Given the description of an element on the screen output the (x, y) to click on. 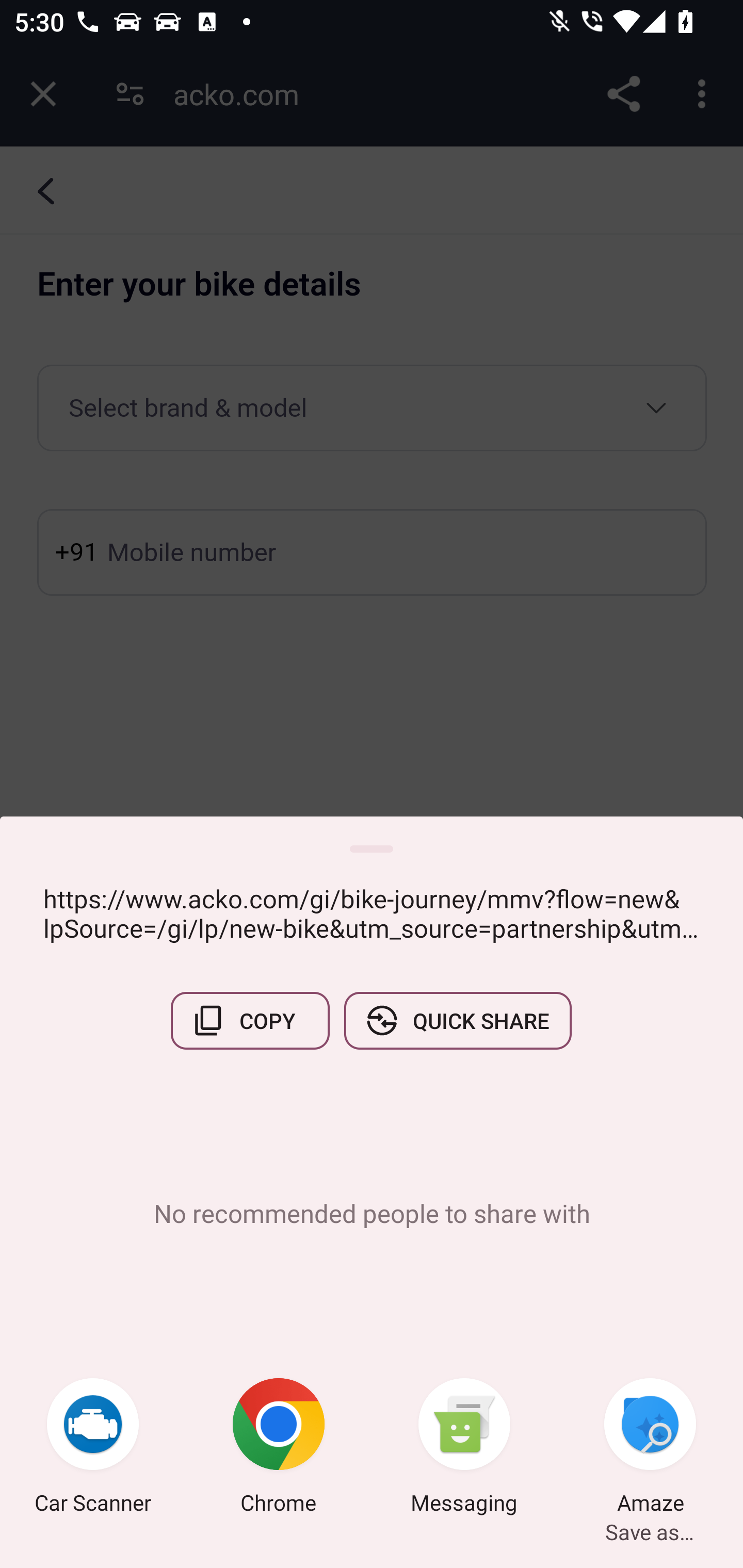
COPY (249, 1020)
QUICK SHARE (457, 1020)
Car Scanner (92, 1448)
Chrome (278, 1448)
Messaging (464, 1448)
Amaze Save as… (650, 1448)
